Given the description of an element on the screen output the (x, y) to click on. 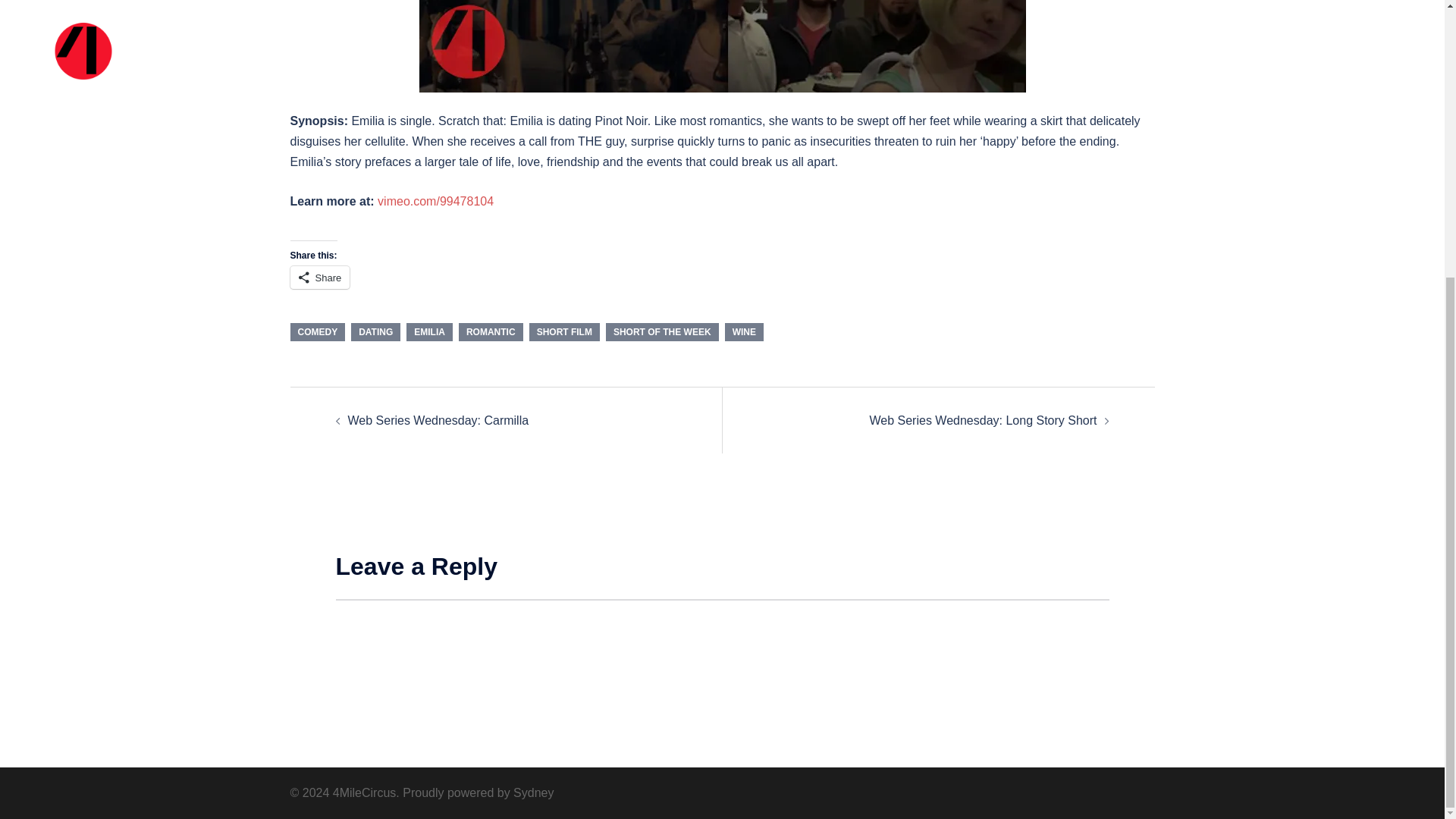
COMEDY (317, 331)
WINE (743, 331)
EMILIA (429, 331)
Web Series Wednesday: Long Story Short (982, 420)
ROMANTIC (490, 331)
DATING (375, 331)
Sydney (533, 792)
SHORT FILM (564, 331)
Web Series Wednesday: Carmilla (437, 420)
Share (319, 277)
SHORT OF THE WEEK (662, 331)
